Given the description of an element on the screen output the (x, y) to click on. 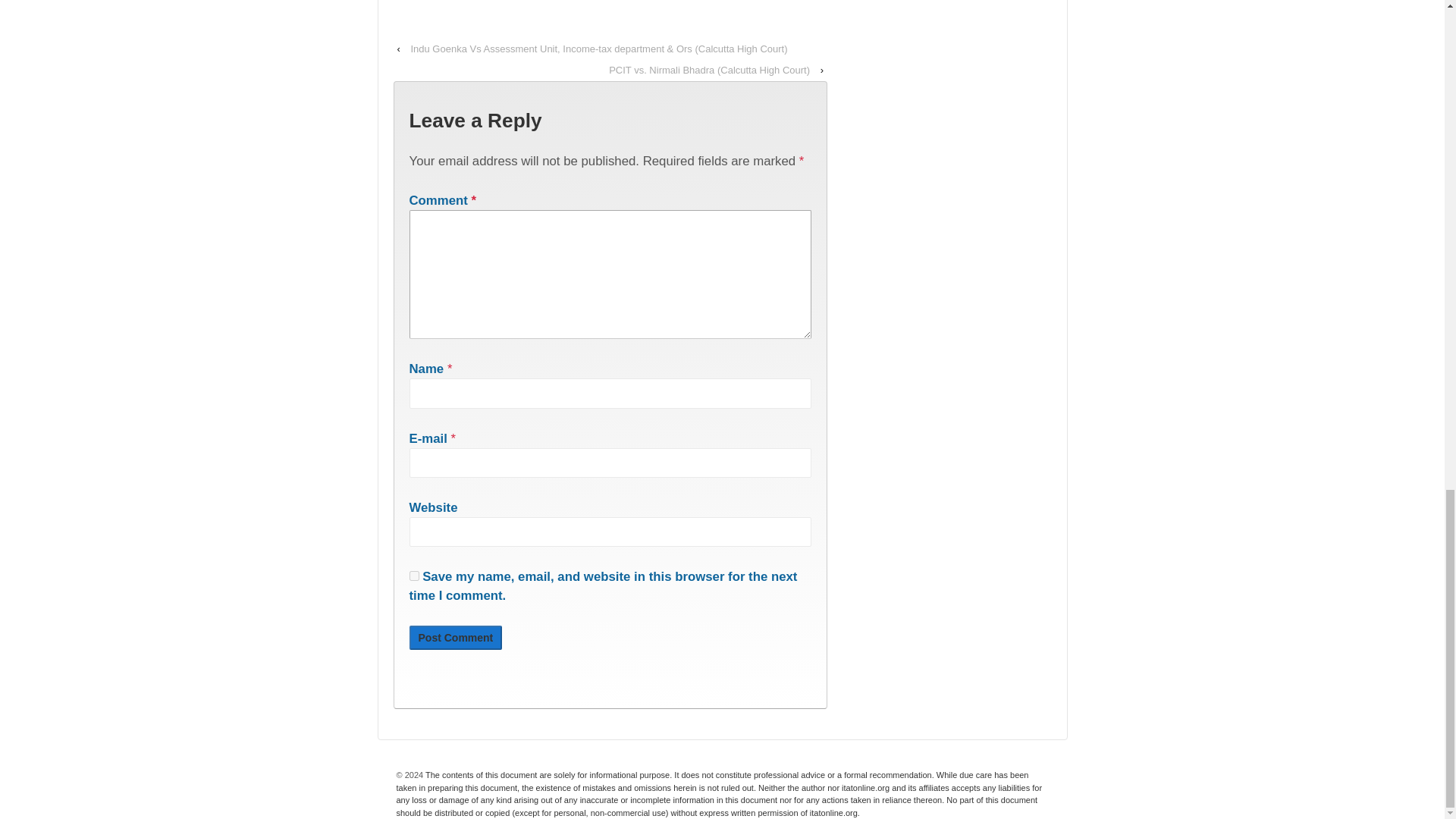
Digest of case laws (719, 793)
Post Comment (455, 637)
Post Comment (455, 637)
yes (414, 575)
